Given the description of an element on the screen output the (x, y) to click on. 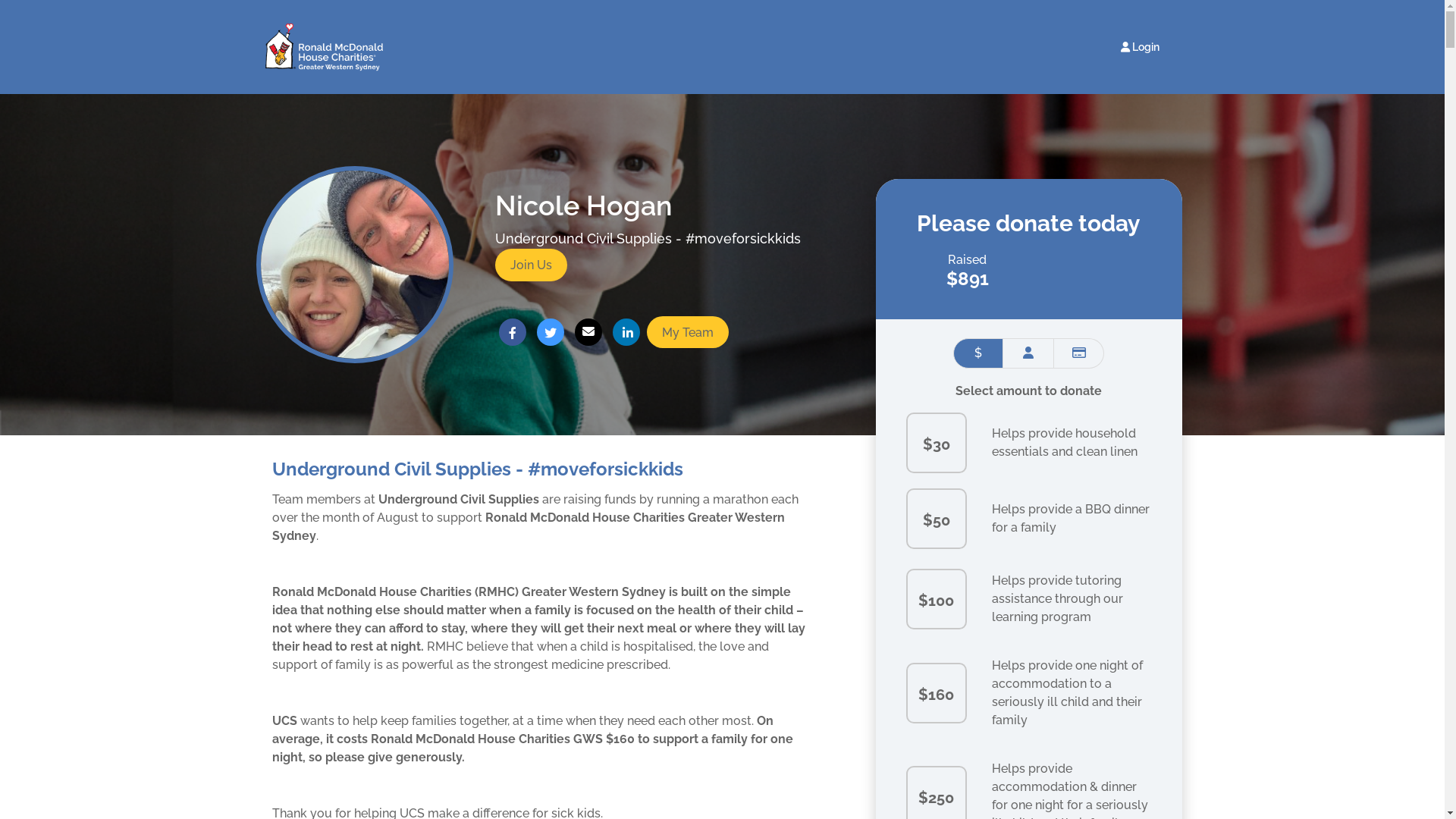
Underground Civil Supplies - #moveforsickkids Element type: text (647, 238)
Login Element type: text (1139, 46)
$ Element type: text (978, 353)
$50
Helps provide a BBQ dinner for a family Element type: text (1028, 518)
Join Us Element type: text (530, 264)
My Team Element type: text (687, 332)
$30
Helps provide household essentials and clean linen Element type: text (1028, 442)
